Given the description of an element on the screen output the (x, y) to click on. 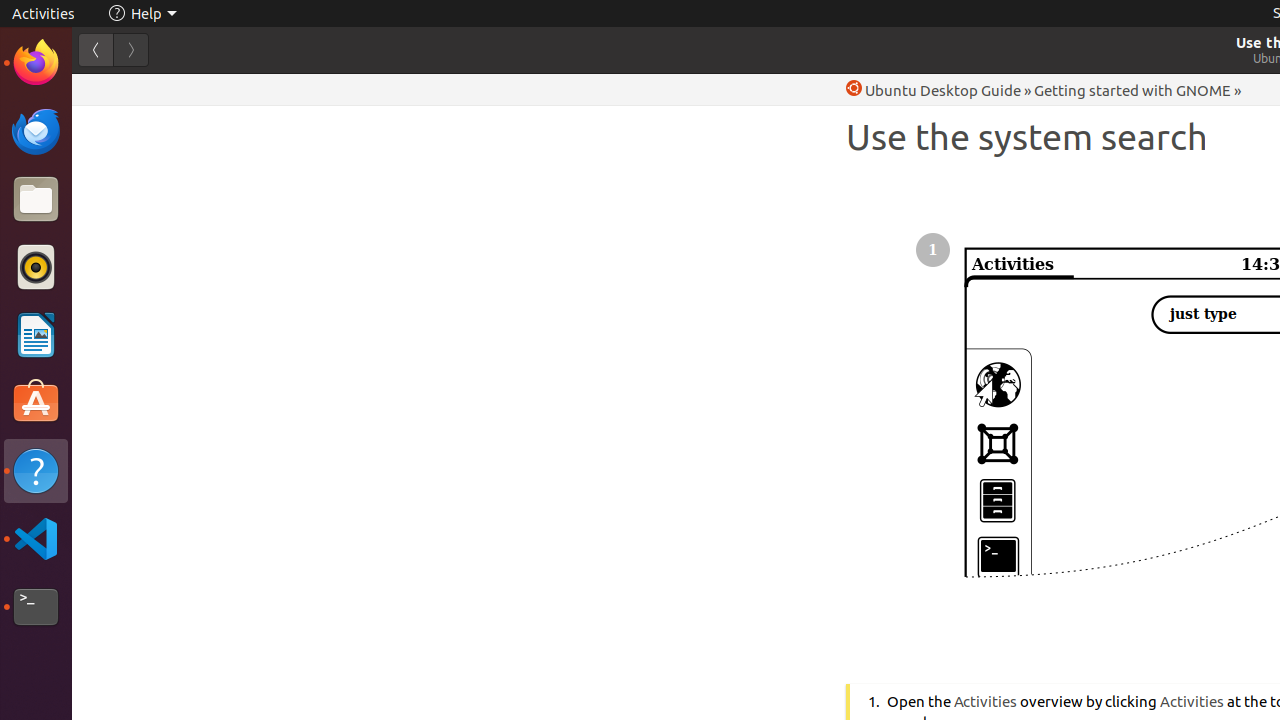
IsaHelpMain.desktop Element type: label (133, 300)
Getting started with GNOME Element type: link (1132, 90)
